Given the description of an element on the screen output the (x, y) to click on. 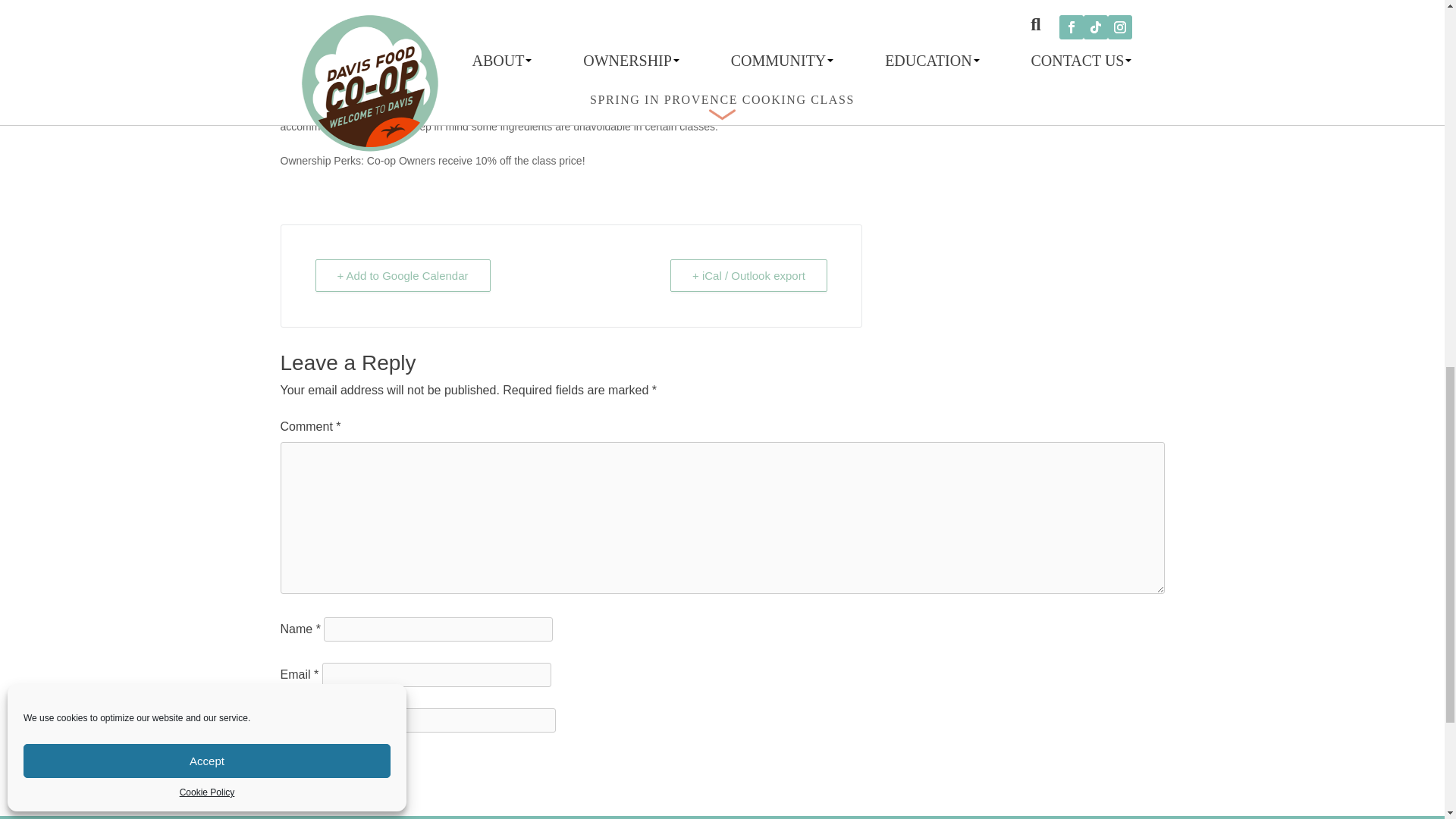
Post Comment (320, 763)
